Given the description of an element on the screen output the (x, y) to click on. 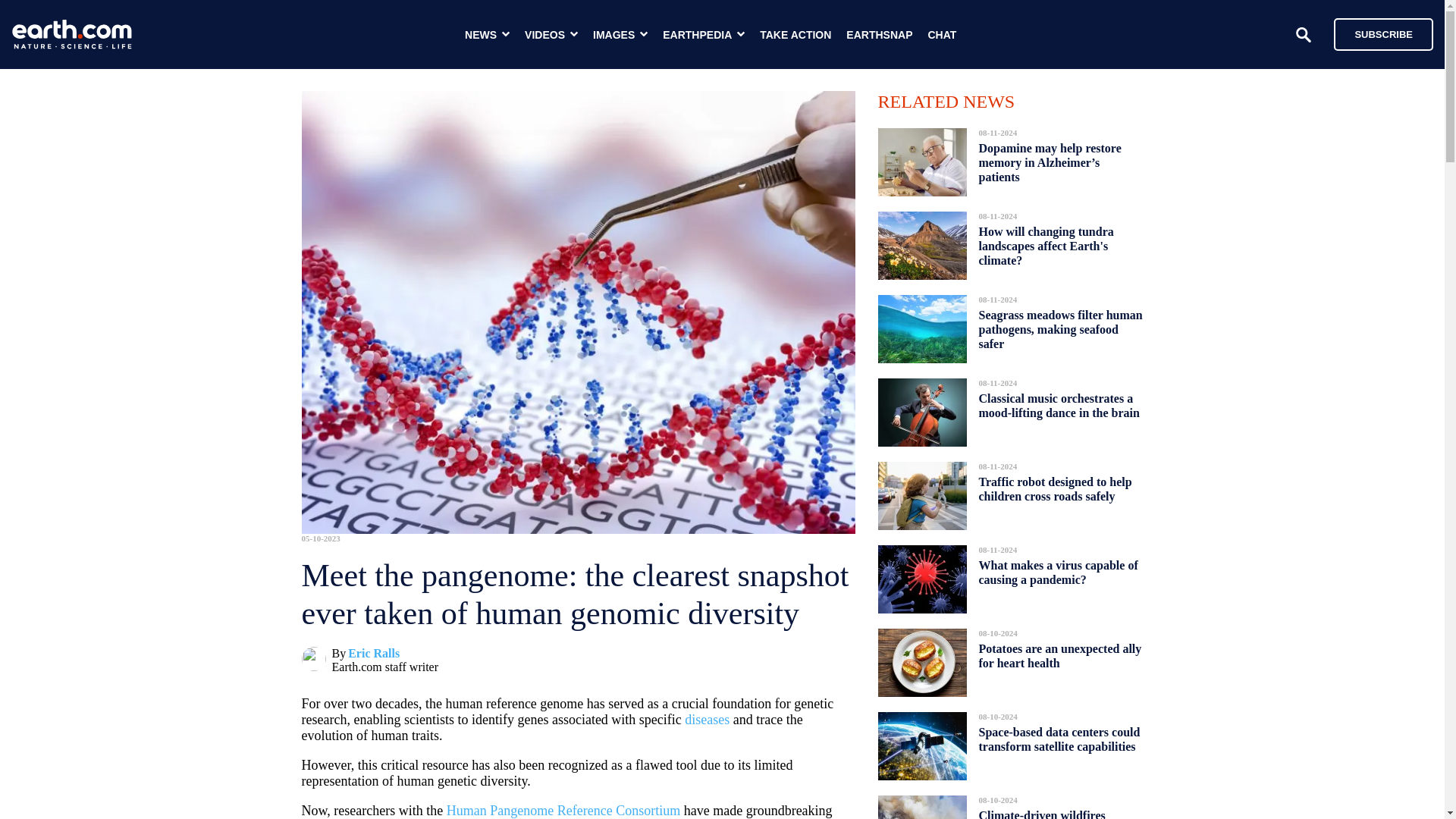
Eric Ralls (372, 653)
EARTHSNAP (878, 34)
diseases (706, 719)
Traffic robot designed to help children cross roads safely (1054, 488)
SUBSCRIBE (1375, 33)
Climate-driven wildfires worsen U.S. air quality and health (1048, 810)
SUBSCRIBE (1382, 34)
CHAT (941, 34)
